Given the description of an element on the screen output the (x, y) to click on. 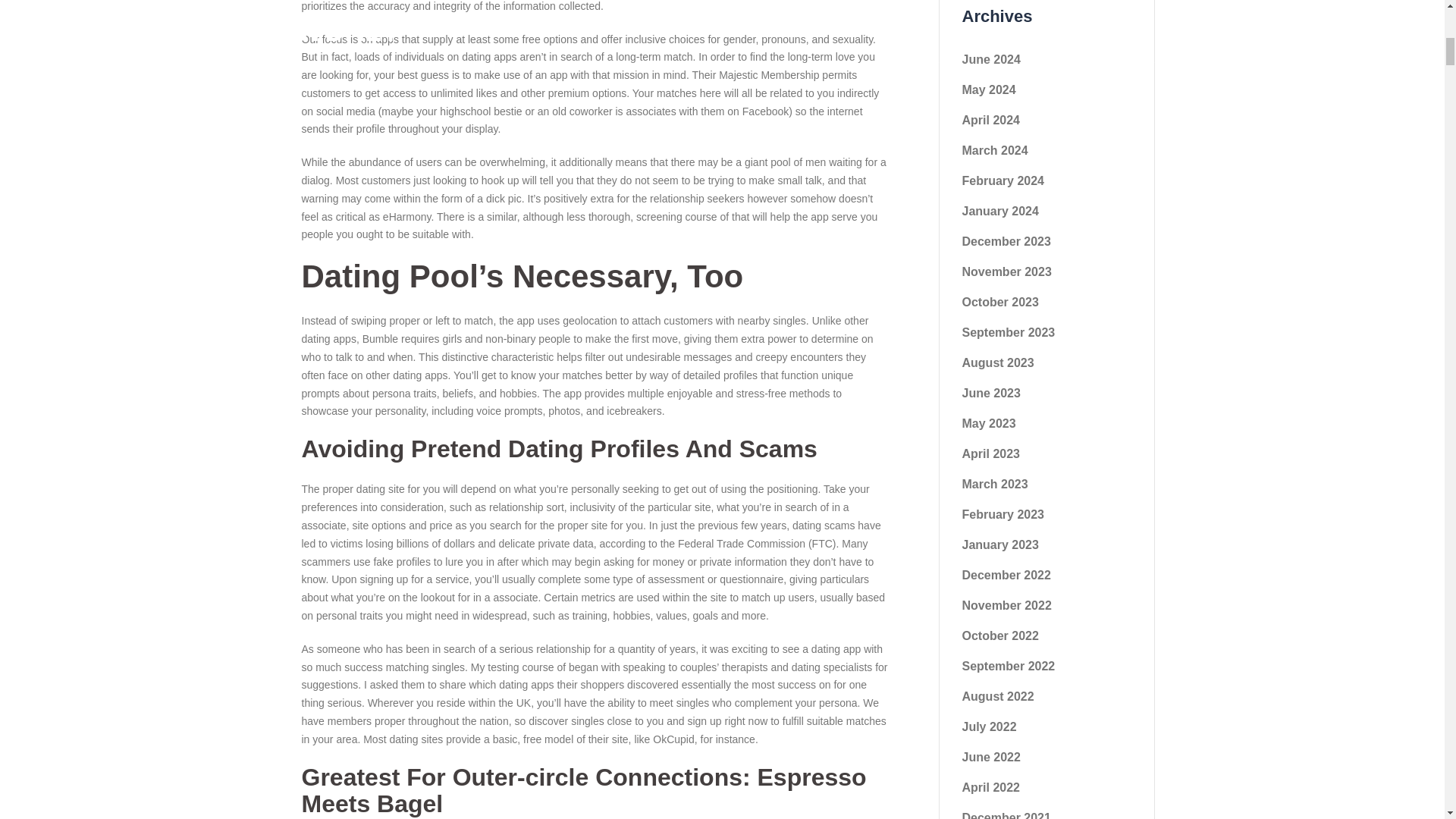
June 2024 (990, 59)
April 2023 (989, 453)
December 2023 (1004, 241)
February 2023 (1001, 513)
January 2024 (999, 210)
March 2023 (993, 483)
March 2024 (993, 150)
January 2023 (999, 544)
August 2023 (996, 362)
May 2023 (987, 422)
May 2024 (987, 89)
October 2023 (999, 301)
February 2024 (1001, 180)
December 2022 (1004, 574)
November 2023 (1005, 271)
